Given the description of an element on the screen output the (x, y) to click on. 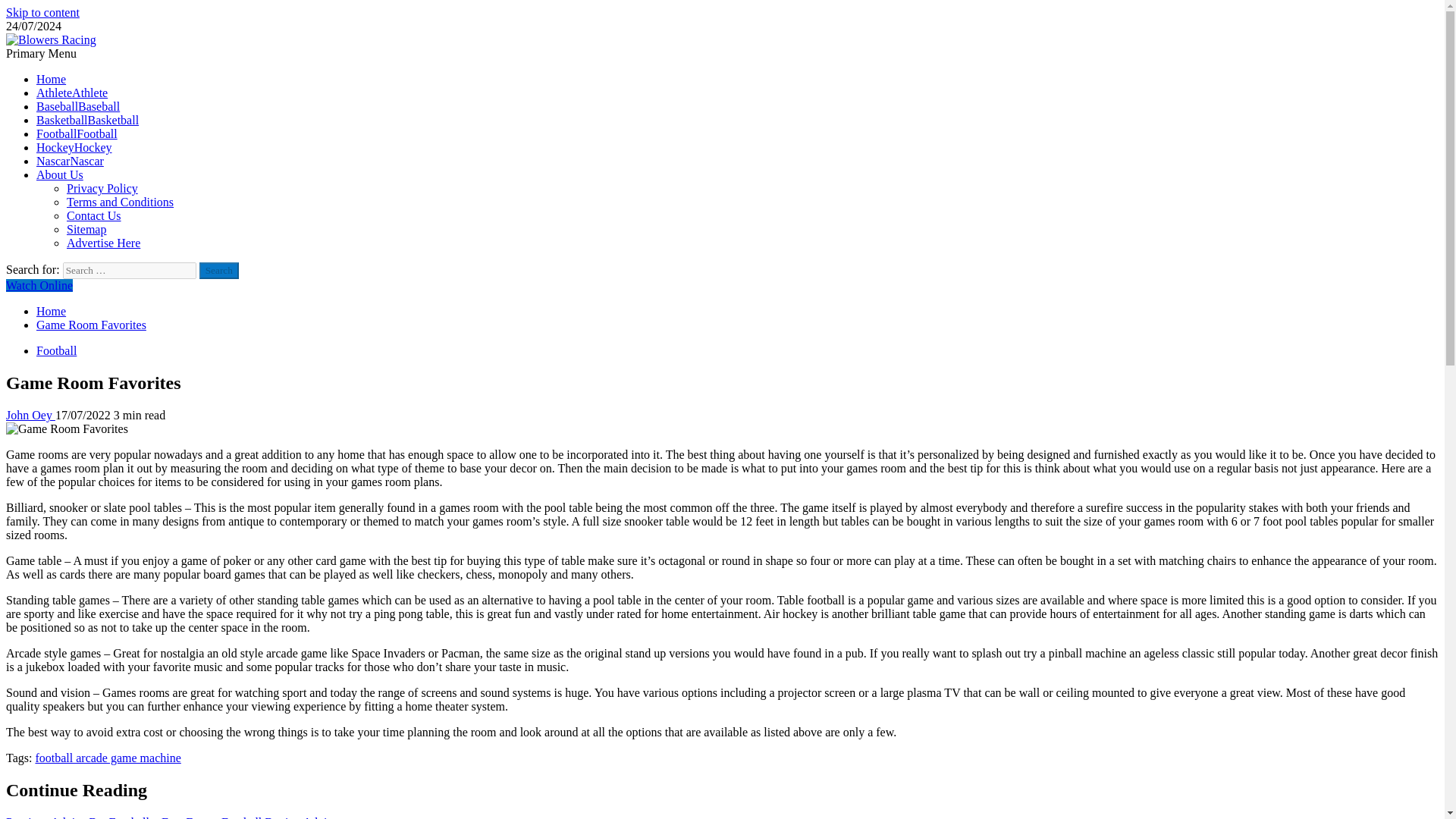
Sitemap (86, 228)
Search (218, 270)
Game Room Favorites (66, 428)
Search (218, 270)
John Oey (30, 414)
Game Room Favorites (91, 324)
football arcade game machine (107, 757)
BaseballBaseball (77, 106)
HockeyHockey (74, 146)
Watch Online (38, 285)
Home (50, 310)
Skip to content (42, 11)
Terms and Conditions (119, 201)
Primary Menu (41, 52)
Contact Us (93, 215)
